Given the description of an element on the screen output the (x, y) to click on. 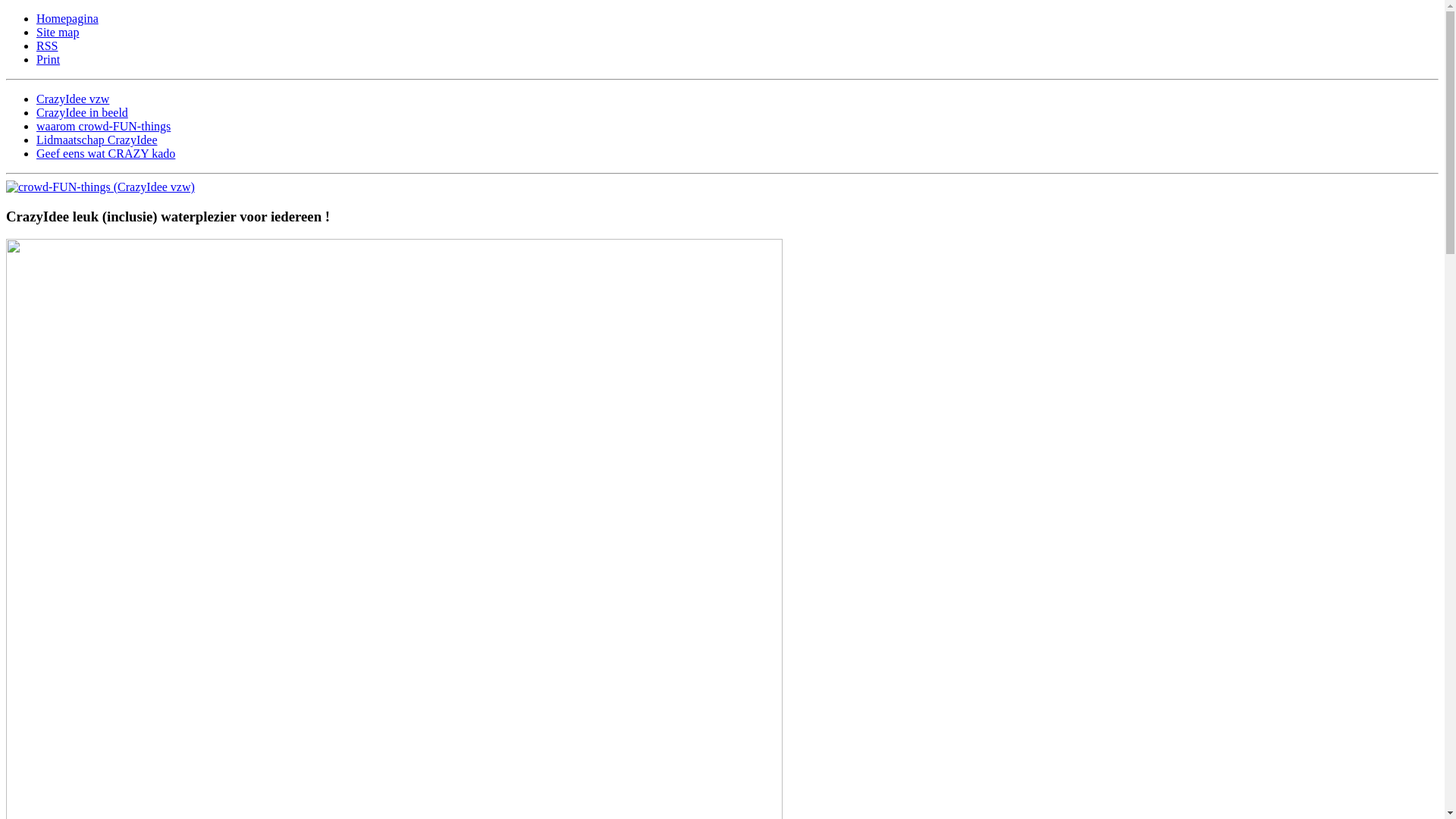
CrazyIdee vzw Element type: text (72, 98)
Print Element type: text (47, 59)
Ga naar homepagina Element type: hover (100, 186)
RSS Element type: text (46, 45)
CrazyIdee in beeld Element type: text (82, 112)
waarom crowd-FUN-things Element type: text (103, 125)
Site map Element type: text (57, 31)
Homepagina Element type: text (67, 18)
Geef eens wat CRAZY kado Element type: text (105, 153)
Lidmaatschap CrazyIdee Element type: text (96, 139)
